Given the description of an element on the screen output the (x, y) to click on. 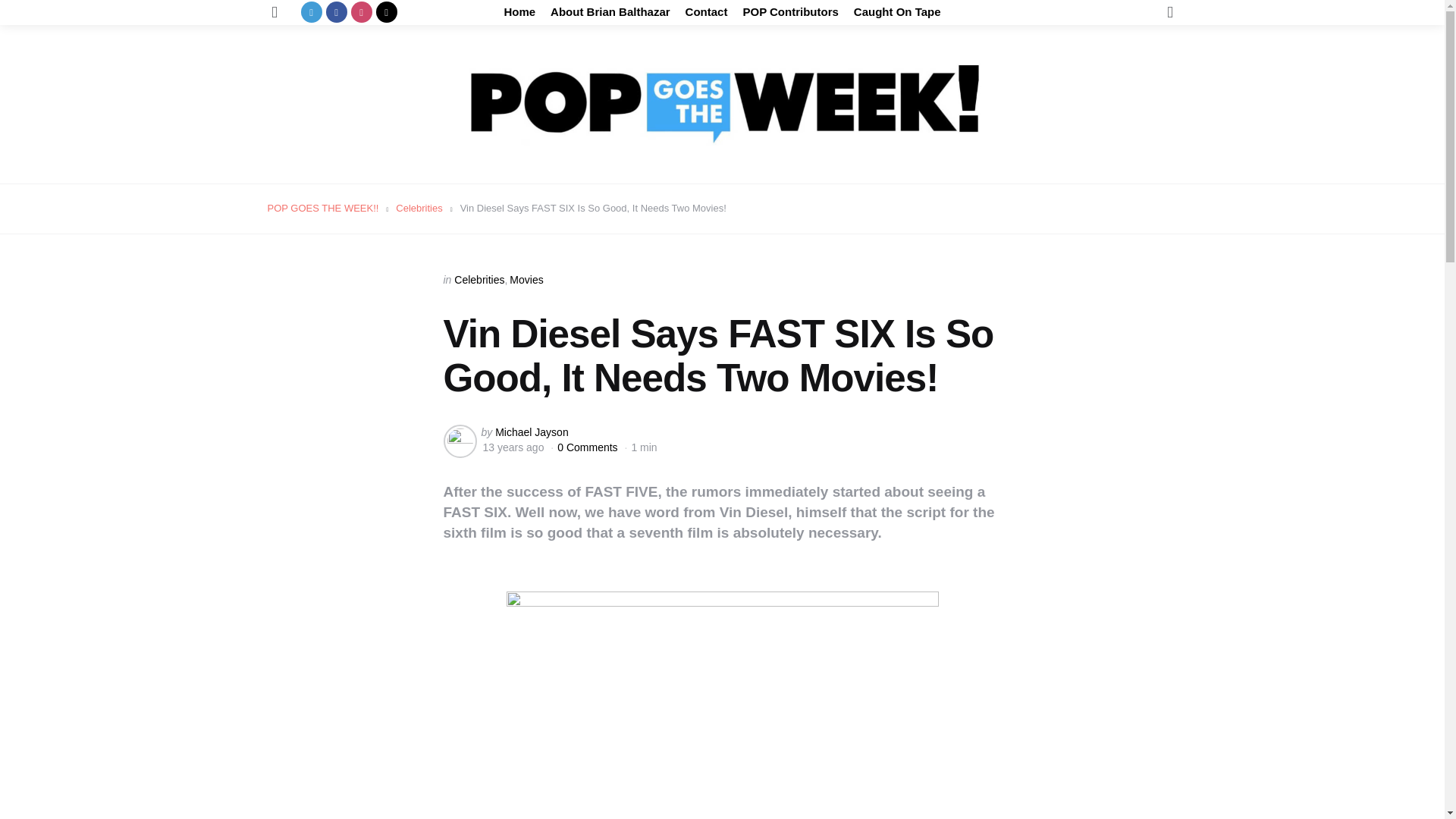
Movies (526, 279)
POP GOES THE WEEK!! (322, 207)
Celebrities (419, 207)
Home (519, 12)
Fast 5 (722, 705)
Contact (706, 12)
Go to POP GOES THE WEEK!!. (322, 207)
Celebrities (478, 279)
Go to the Celebrities Category archives. (419, 207)
Caught On Tape (896, 12)
POP Contributors (790, 12)
About Brian Balthazar (609, 12)
